Given the description of an element on the screen output the (x, y) to click on. 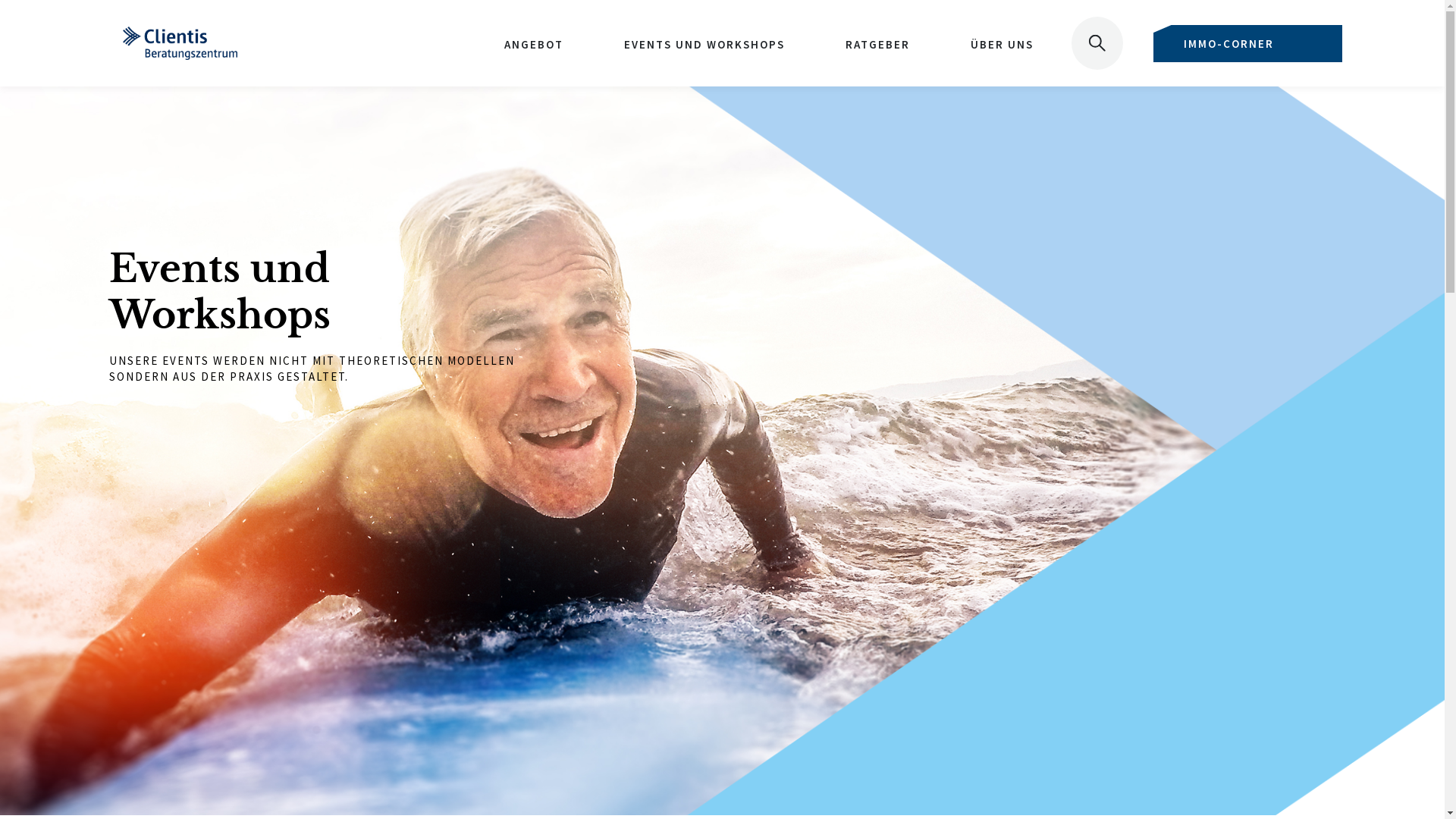
ANGEBOT Element type: text (533, 43)
EVENTS UND WORKSHOPS Element type: text (704, 43)
IMMO-CORNER Element type: text (1247, 42)
Clientis Element type: hover (620, 449)
RATGEBER Element type: text (877, 43)
